Given the description of an element on the screen output the (x, y) to click on. 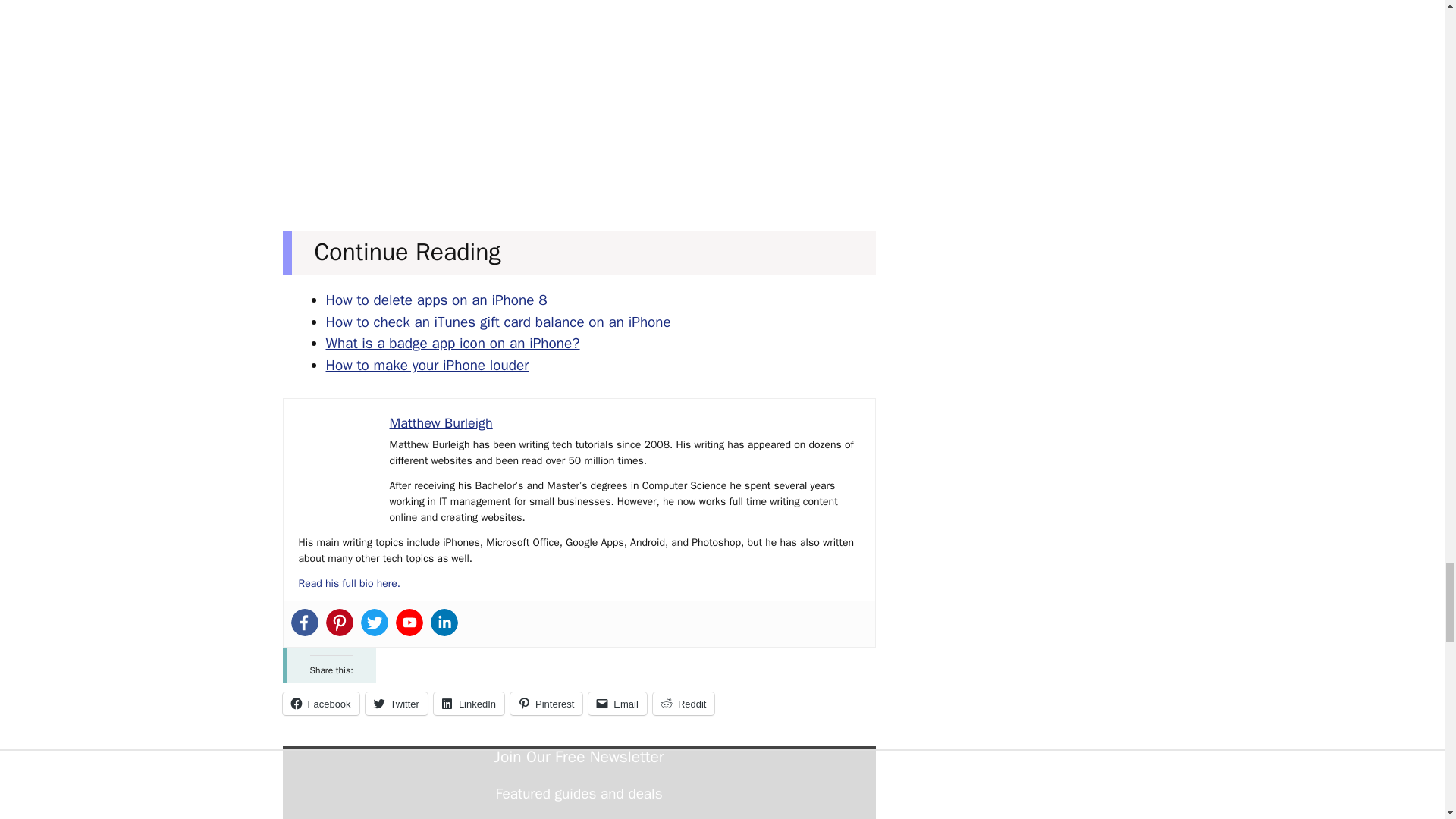
Twitter (396, 703)
How to check an iTunes gift card balance on an iPhone (498, 321)
Facebook (320, 703)
Pinterest (546, 703)
Read his full bio here. (349, 583)
Email (617, 703)
LinkedIn (468, 703)
How to make your iPhone louder (427, 365)
What is a badge app icon on an iPhone? (452, 343)
Matthew Burleigh (441, 422)
How to delete apps on an iPhone 8 (436, 300)
